Given the description of an element on the screen output the (x, y) to click on. 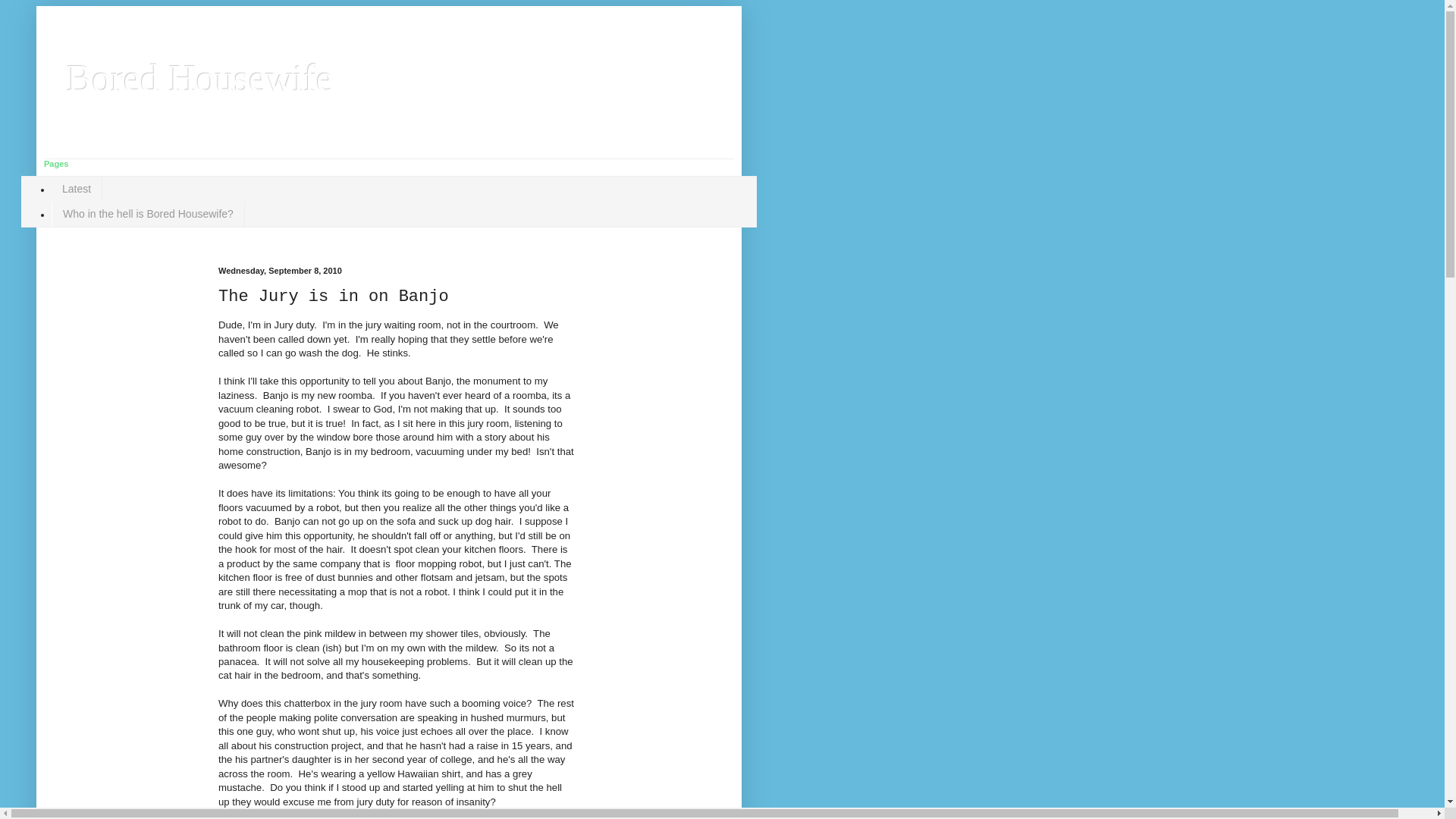
Who in the hell is Bored Housewife? (147, 213)
Bored Housewife (199, 77)
Latest (75, 188)
